Given the description of an element on the screen output the (x, y) to click on. 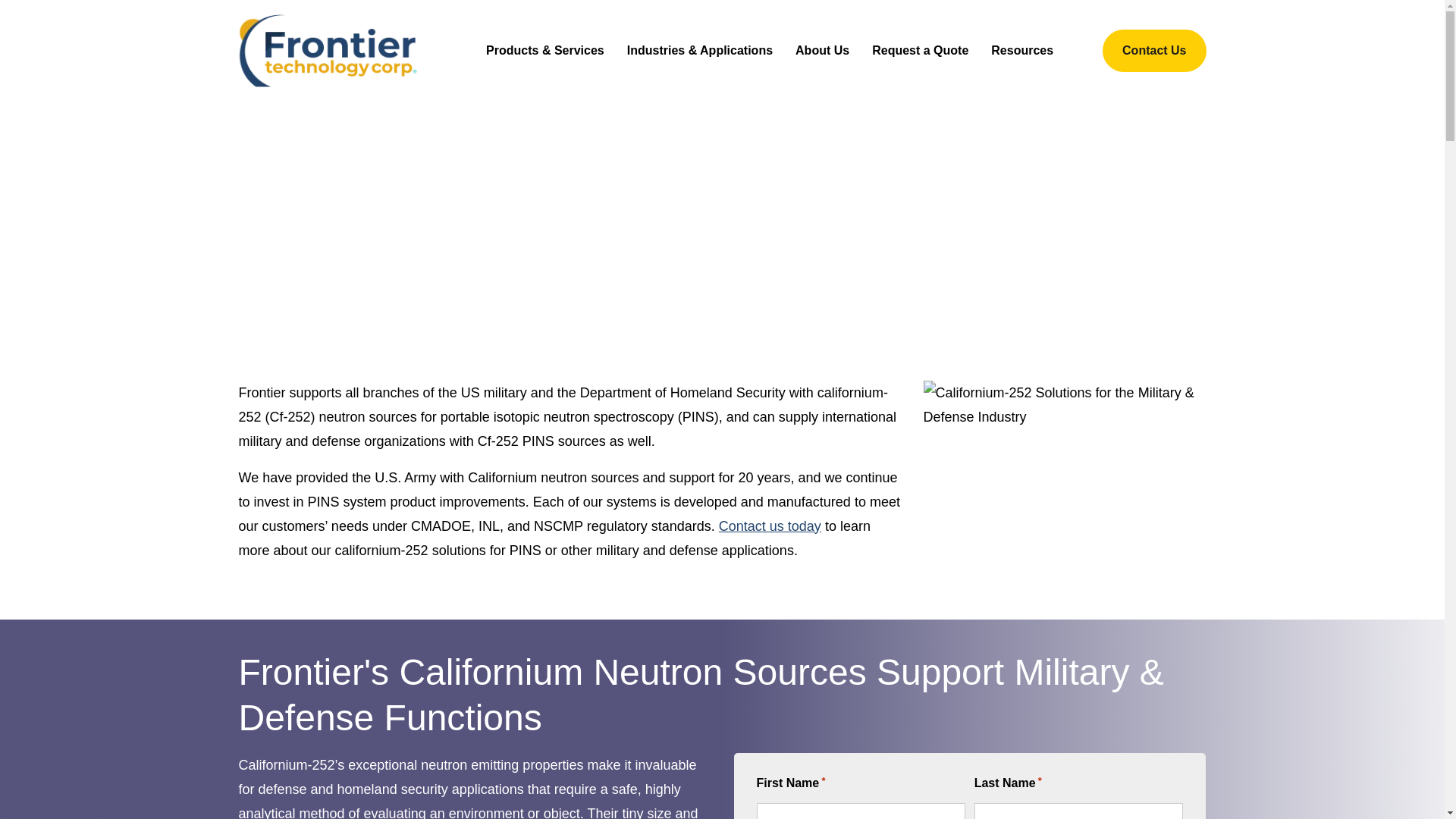
About Us (822, 50)
Request a Quote (920, 50)
Resources (1022, 50)
Frontier Technology Corporation (327, 50)
